Given the description of an element on the screen output the (x, y) to click on. 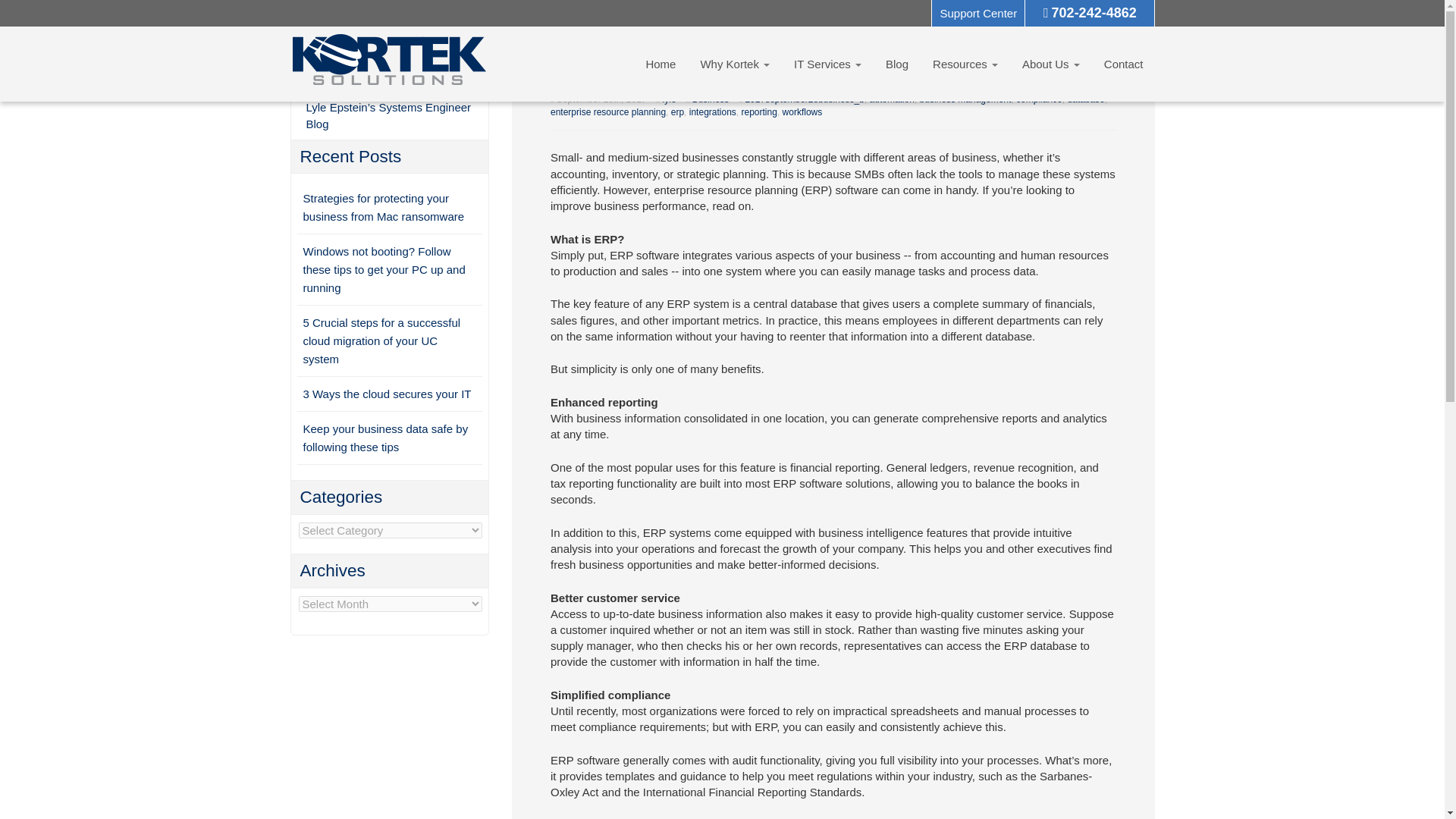
Business (711, 99)
Why Kortek (734, 64)
enterprise resource planning (607, 112)
automation (891, 99)
database (1085, 99)
Support Center (978, 13)
compliance (1039, 99)
erp (677, 112)
Home (660, 64)
IT Services (827, 64)
Contact (1123, 64)
lyle (669, 99)
Blog (897, 64)
About Us (1050, 64)
business management (965, 99)
